Given the description of an element on the screen output the (x, y) to click on. 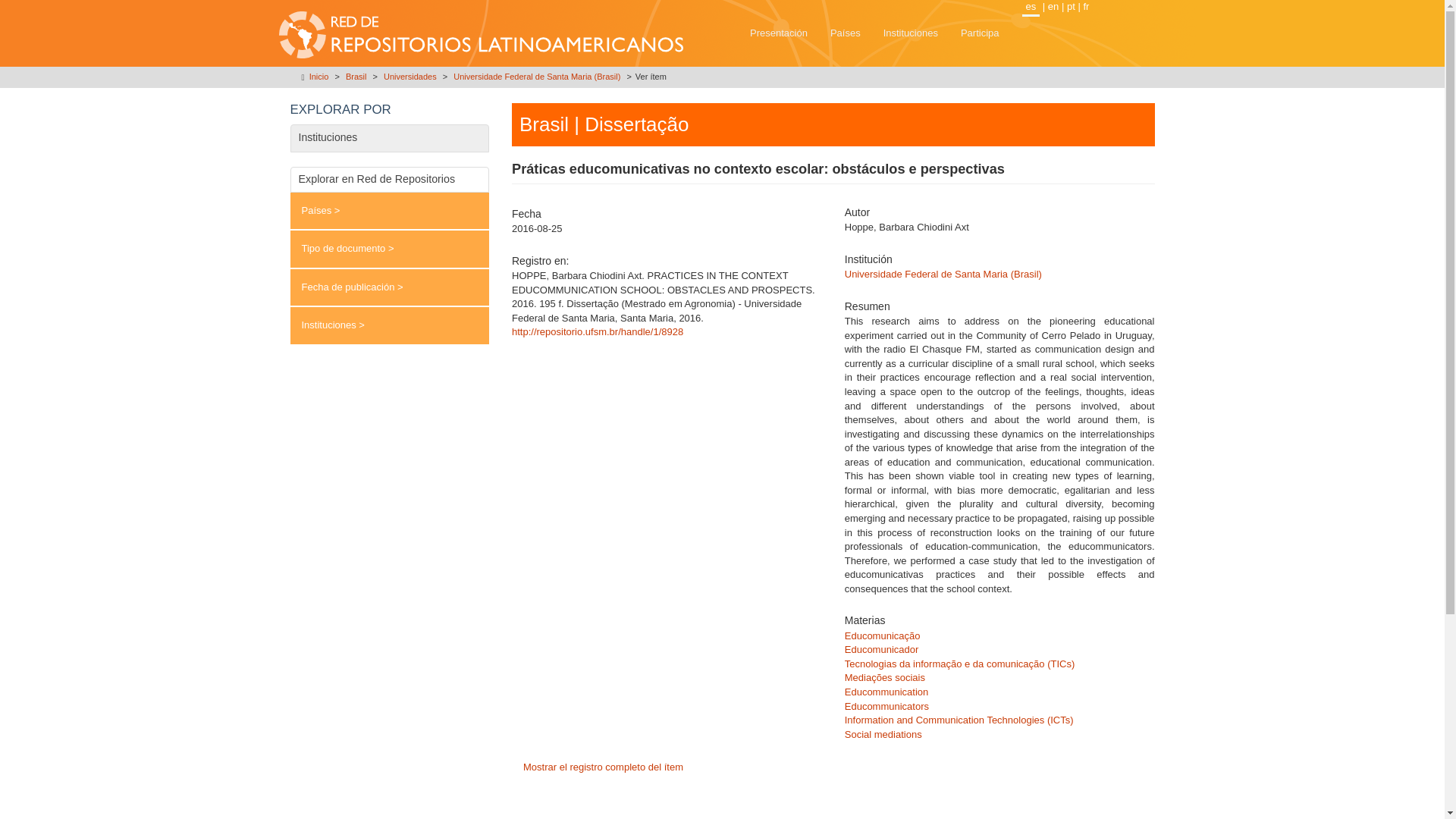
English (1053, 6)
Universidades (410, 76)
Social mediations (882, 734)
Brasil (356, 76)
Participa (979, 33)
Educommunicators (886, 706)
Instituciones (910, 33)
Educomunicador (881, 649)
es (1031, 8)
en (1053, 6)
Inicio (318, 76)
Educommunication (886, 691)
